Given the description of an element on the screen output the (x, y) to click on. 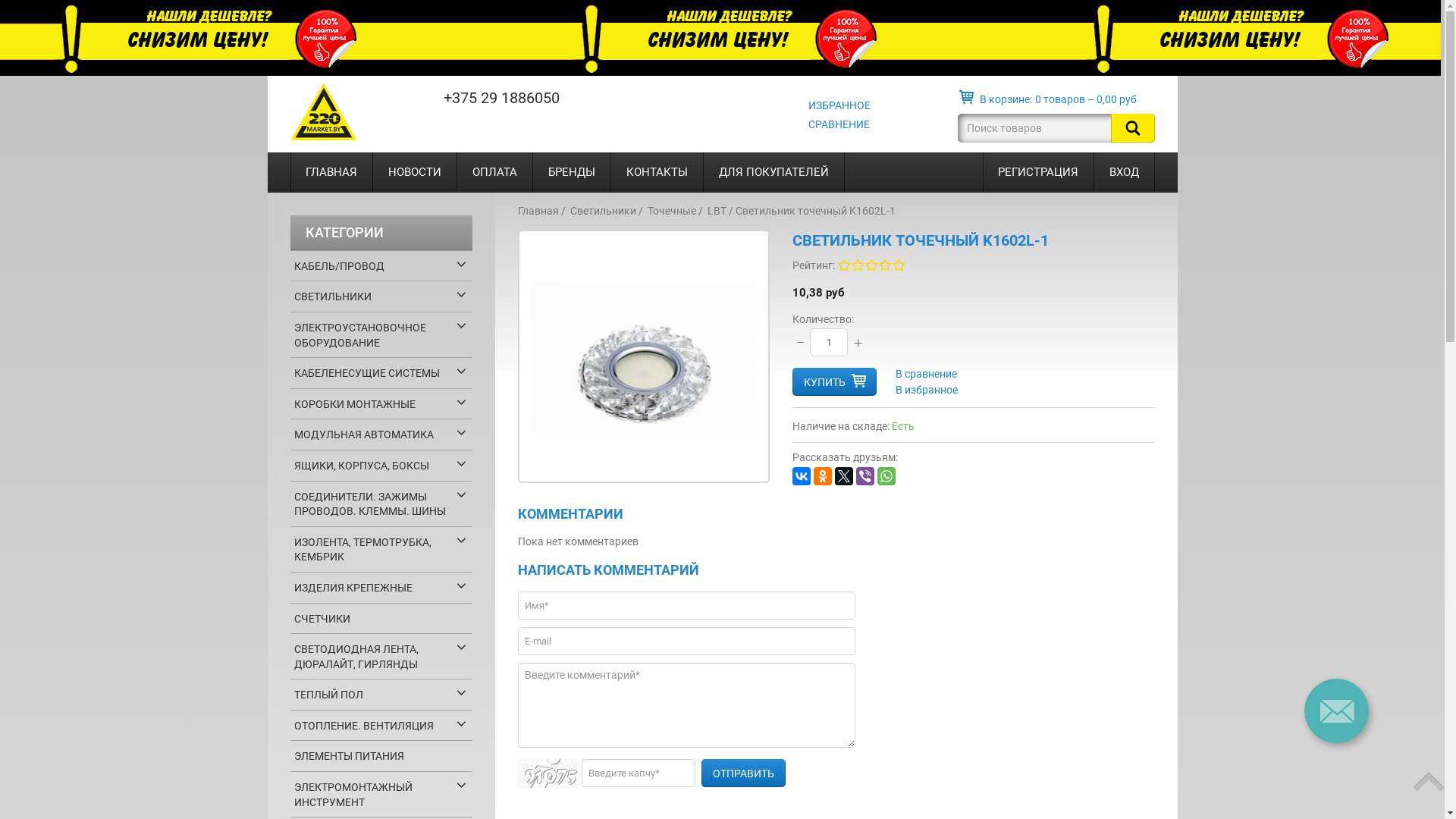
+375 29 1886050 Element type: text (500, 97)
WhatsApp Element type: hover (886, 476)
Twitter Element type: hover (843, 476)
Viber Element type: hover (865, 476)
LBT Element type: text (715, 210)
